Given the description of an element on the screen output the (x, y) to click on. 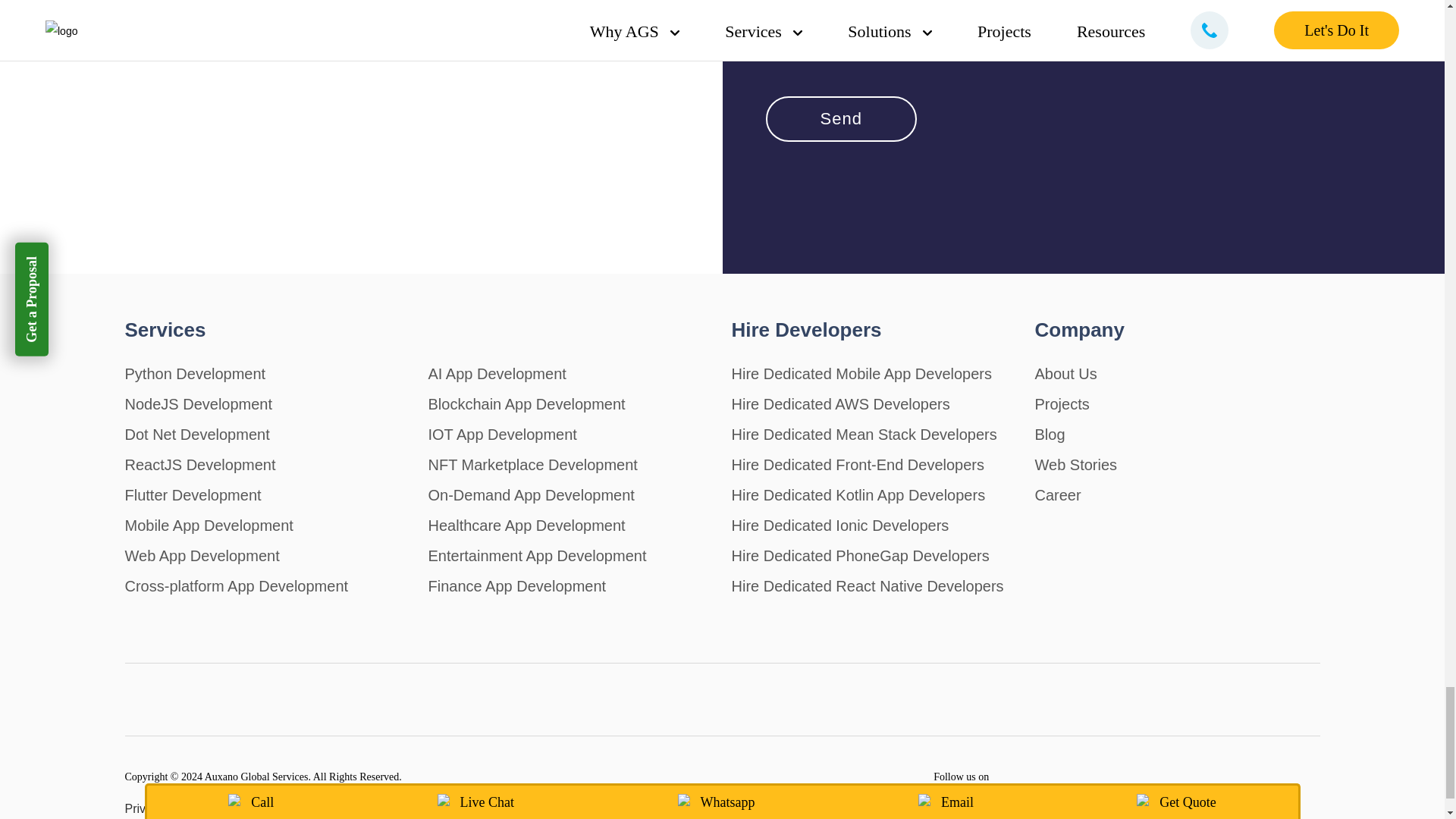
Yes (770, 30)
Send (841, 118)
